Given the description of an element on the screen output the (x, y) to click on. 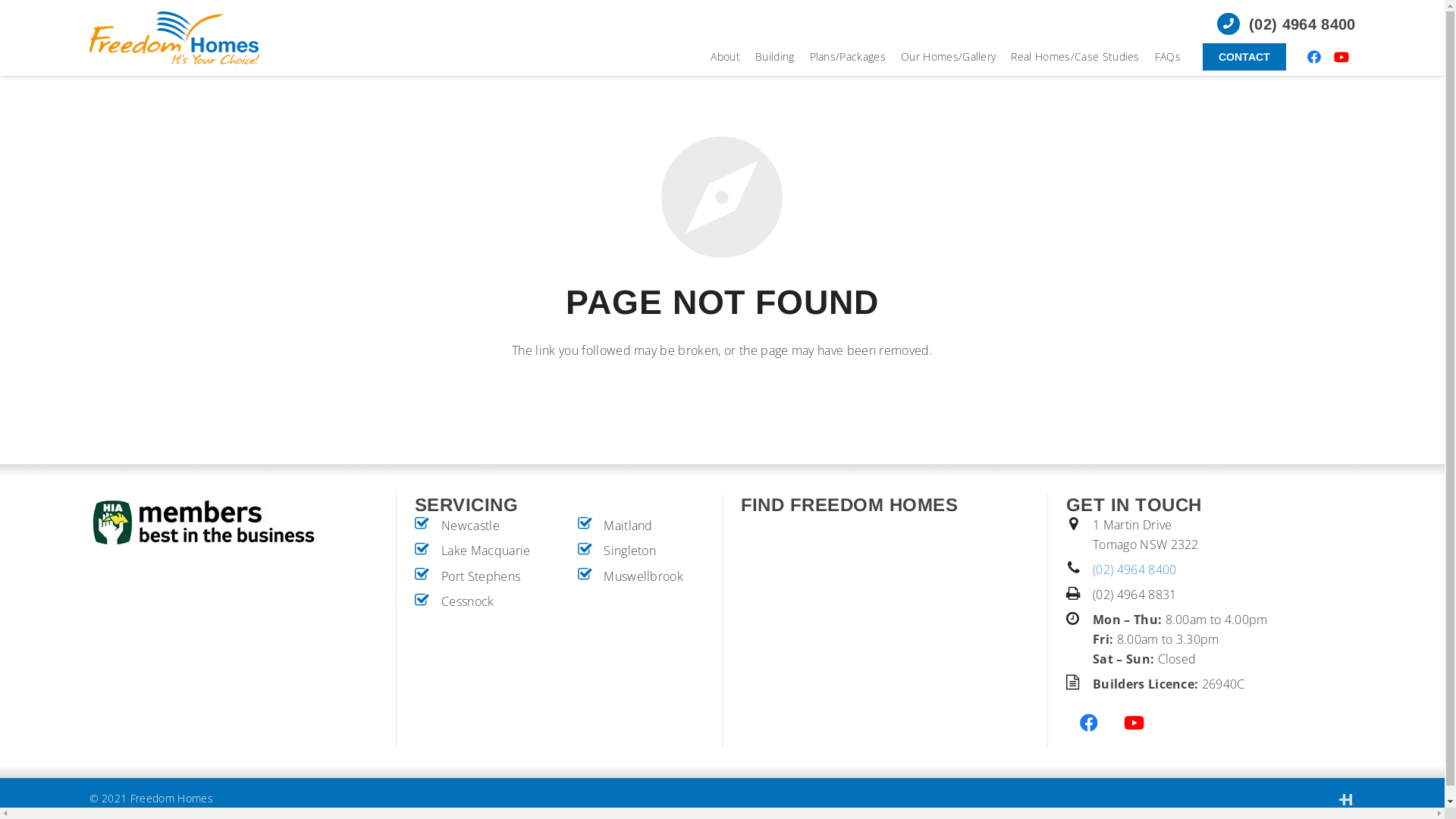
(02) 4964 8400 Element type: text (1134, 569)
Facebook Element type: hover (1313, 56)
YouTube Element type: hover (1134, 722)
YouTube Element type: hover (1341, 56)
CONTACT Element type: text (1244, 56)
(02) 4964 8400 Element type: text (1286, 23)
FAQs Element type: text (1167, 56)
Website by HyperWeb Element type: hover (1347, 798)
Plans/Packages Element type: text (847, 56)
Real Homes/Case Studies Element type: text (1074, 56)
Our Homes/Gallery Element type: text (948, 56)
About Element type: text (724, 56)
Facebook Element type: hover (1088, 722)
Building Element type: text (774, 56)
